Given the description of an element on the screen output the (x, y) to click on. 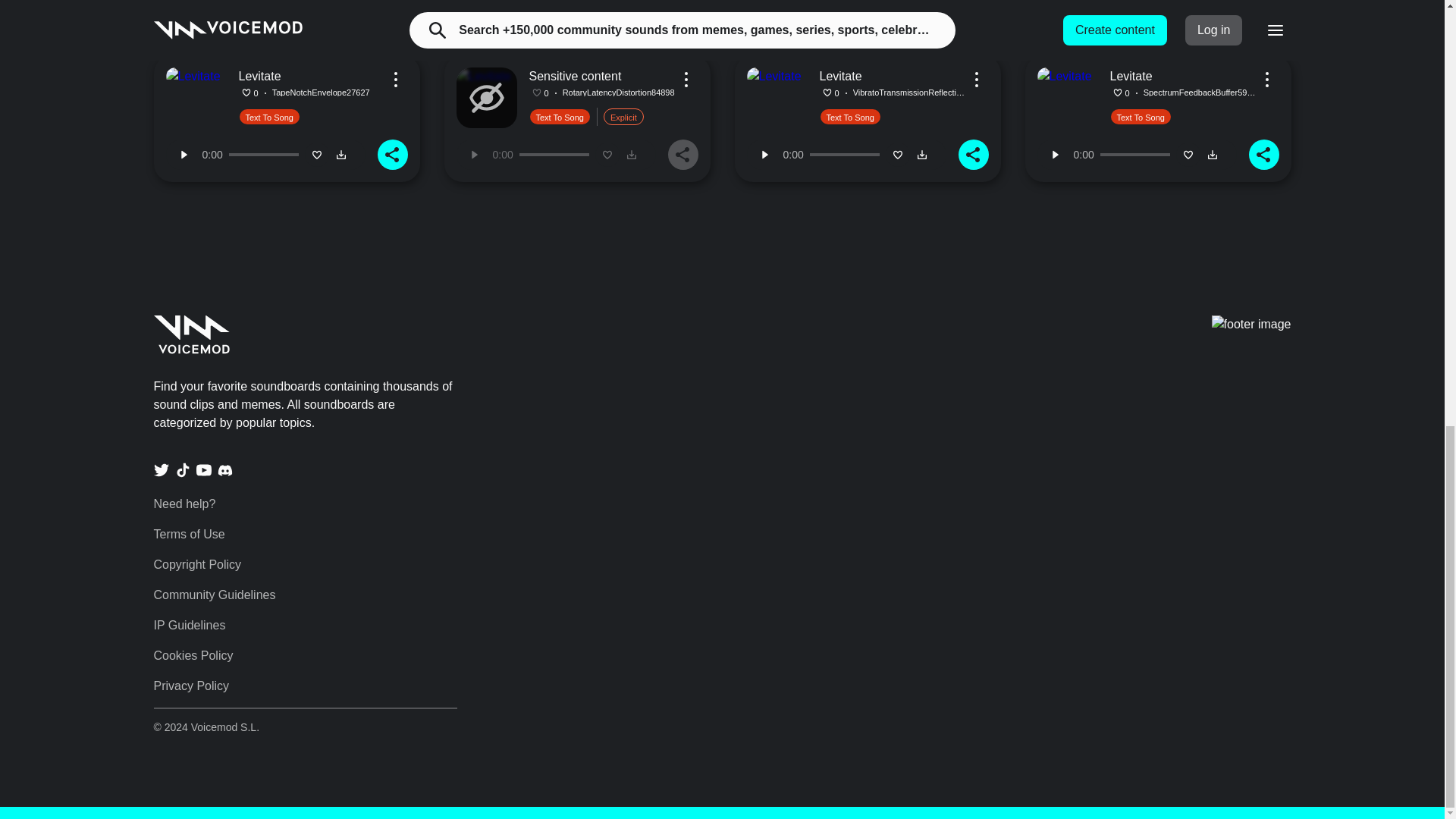
0 (844, 154)
0 (263, 154)
0 (554, 154)
0 (1135, 9)
0 (263, 9)
0 (554, 9)
0 (1135, 154)
0 (844, 9)
